Given the description of an element on the screen output the (x, y) to click on. 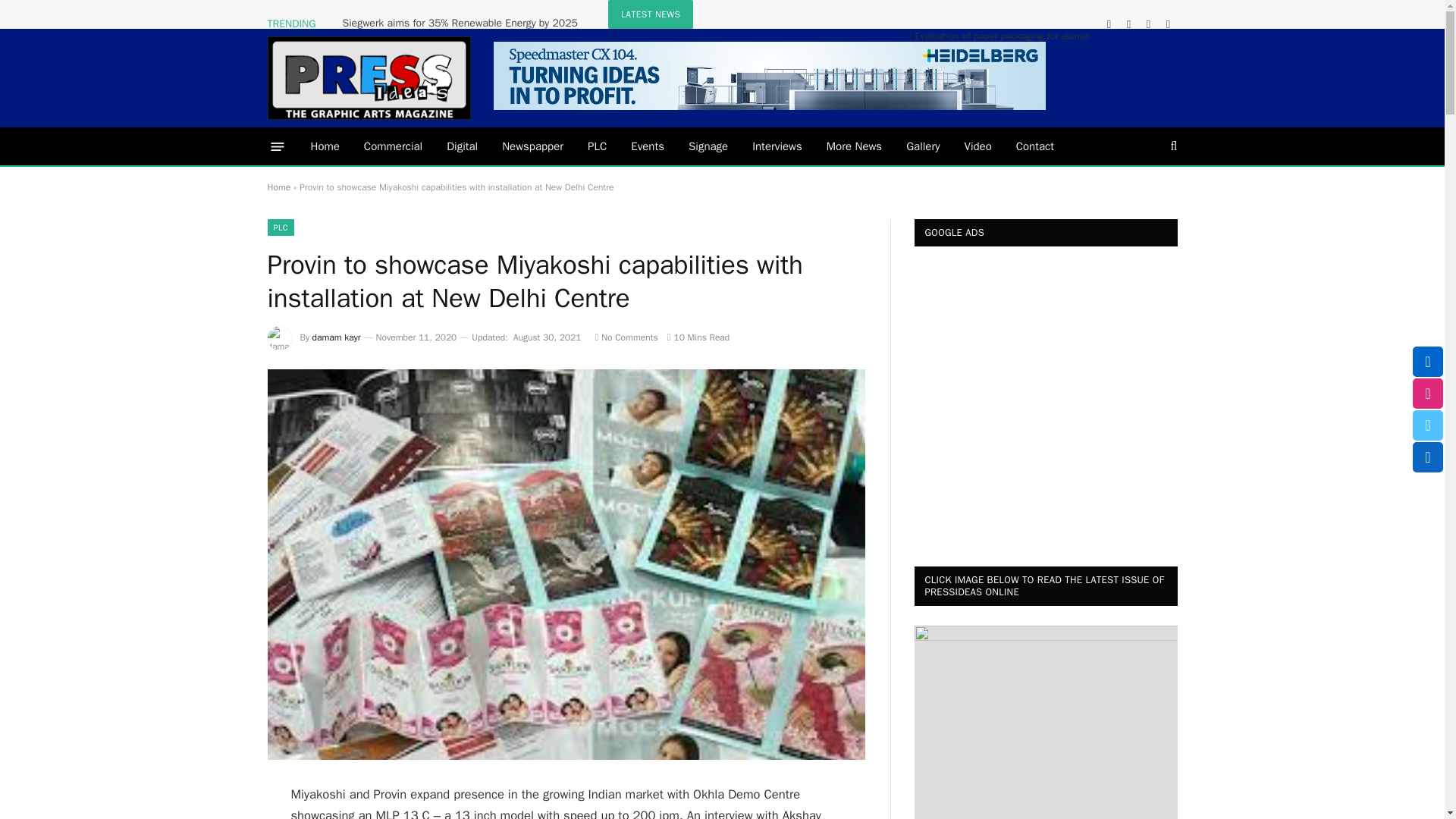
PRESSIdeas (368, 77)
Posts by damam kayr (337, 337)
